Given the description of an element on the screen output the (x, y) to click on. 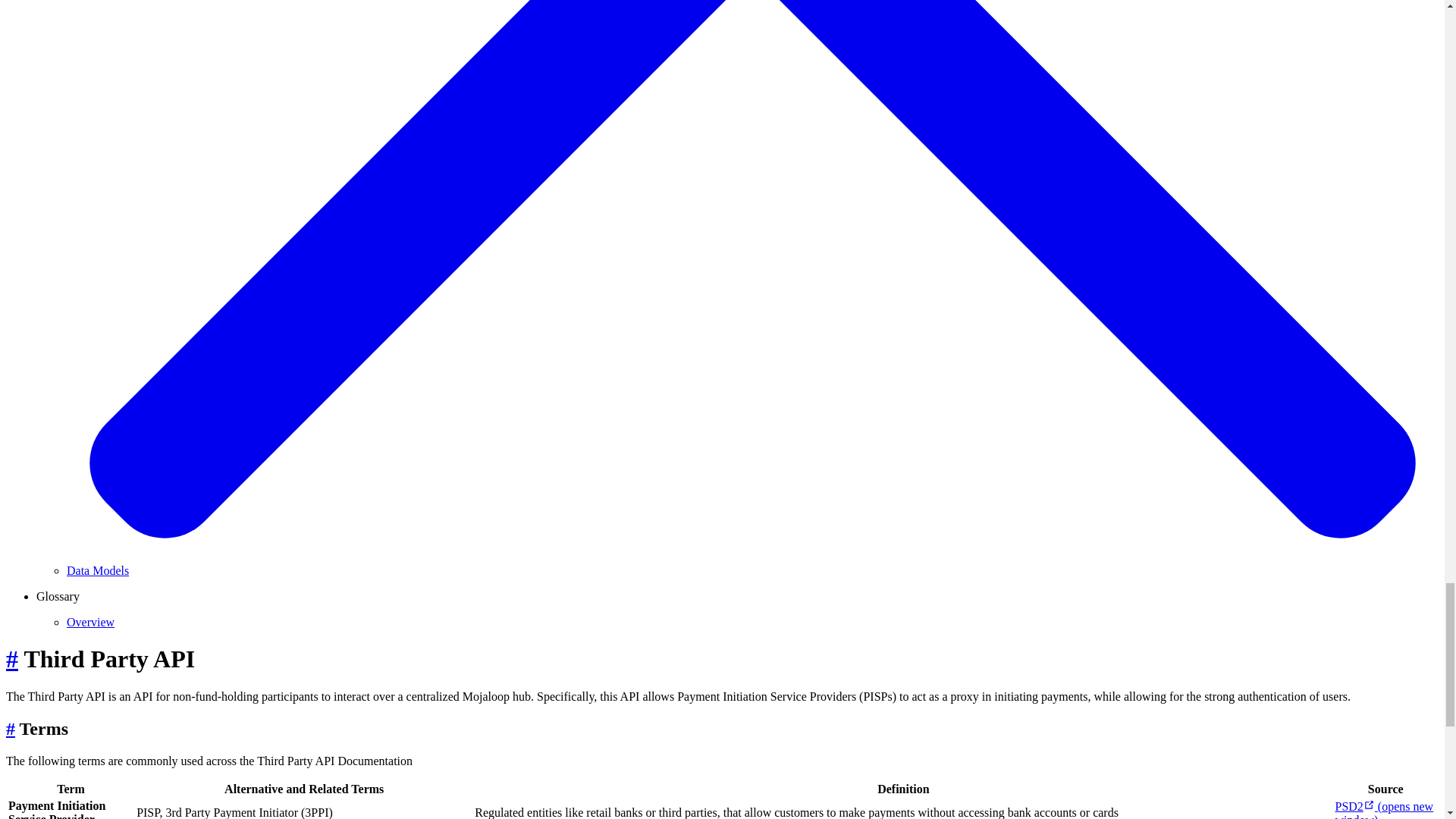
Overview (90, 621)
Data Models (97, 570)
